Given the description of an element on the screen output the (x, y) to click on. 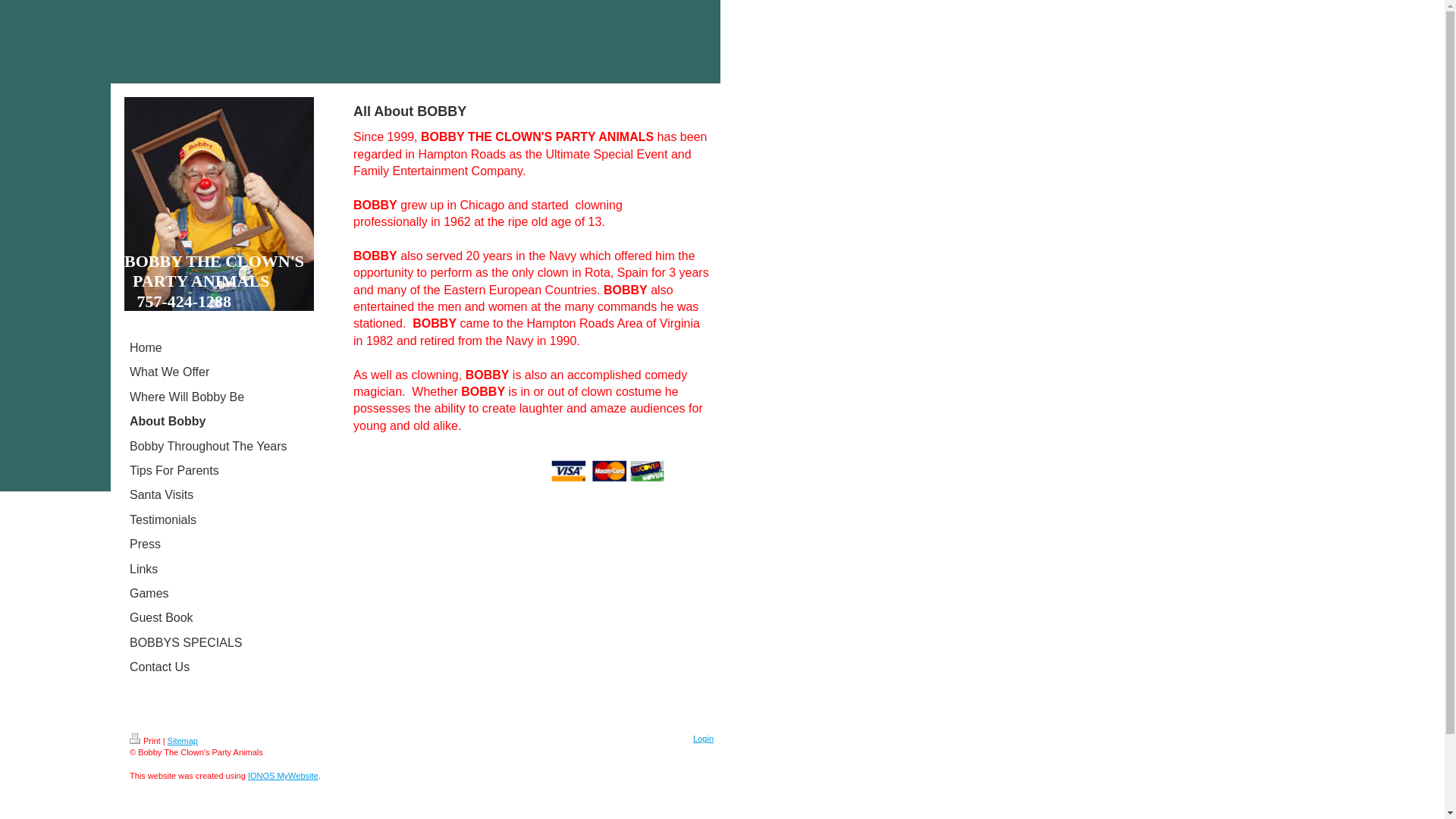
Press (215, 544)
Tips For Parents (215, 470)
Games (215, 593)
Where Will Bobby Be (215, 396)
Home (215, 347)
Print (144, 740)
IONOS MyWebsite (282, 775)
Sitemap (182, 740)
BOBBY THE CLOWN'S  PARTY ANIMALS   757-424-1288 (213, 280)
Contact Us (215, 667)
